Given the description of an element on the screen output the (x, y) to click on. 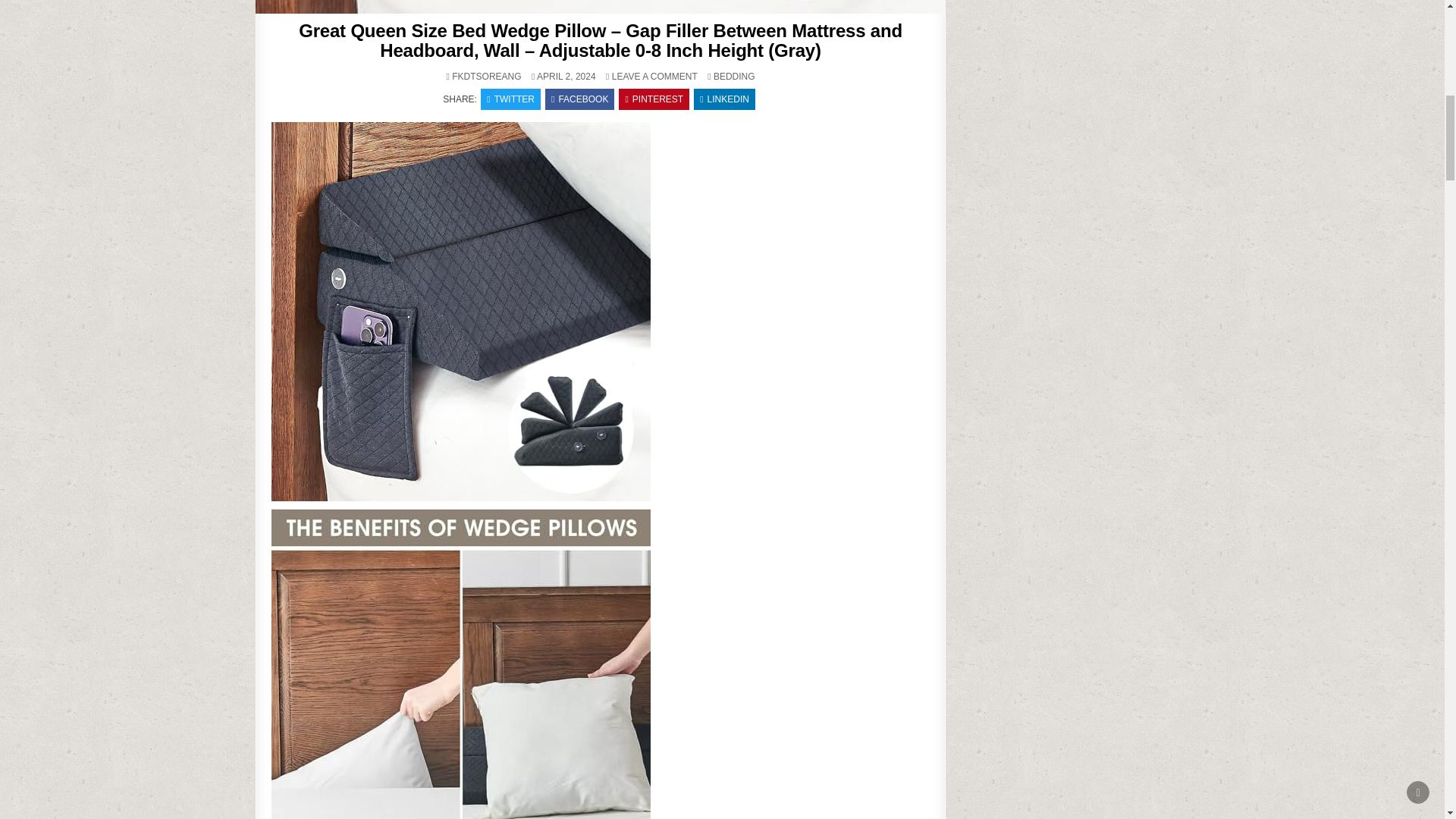
FACEBOOK (579, 98)
TWITTER (510, 98)
Share this on Linkedin (724, 98)
Share this on Pinterest (653, 98)
PINTEREST (653, 98)
BEDDING (734, 76)
Tweet This! (510, 98)
FKDTSOREANG (486, 76)
Share this on Facebook (579, 98)
LINKEDIN (724, 98)
